Given the description of an element on the screen output the (x, y) to click on. 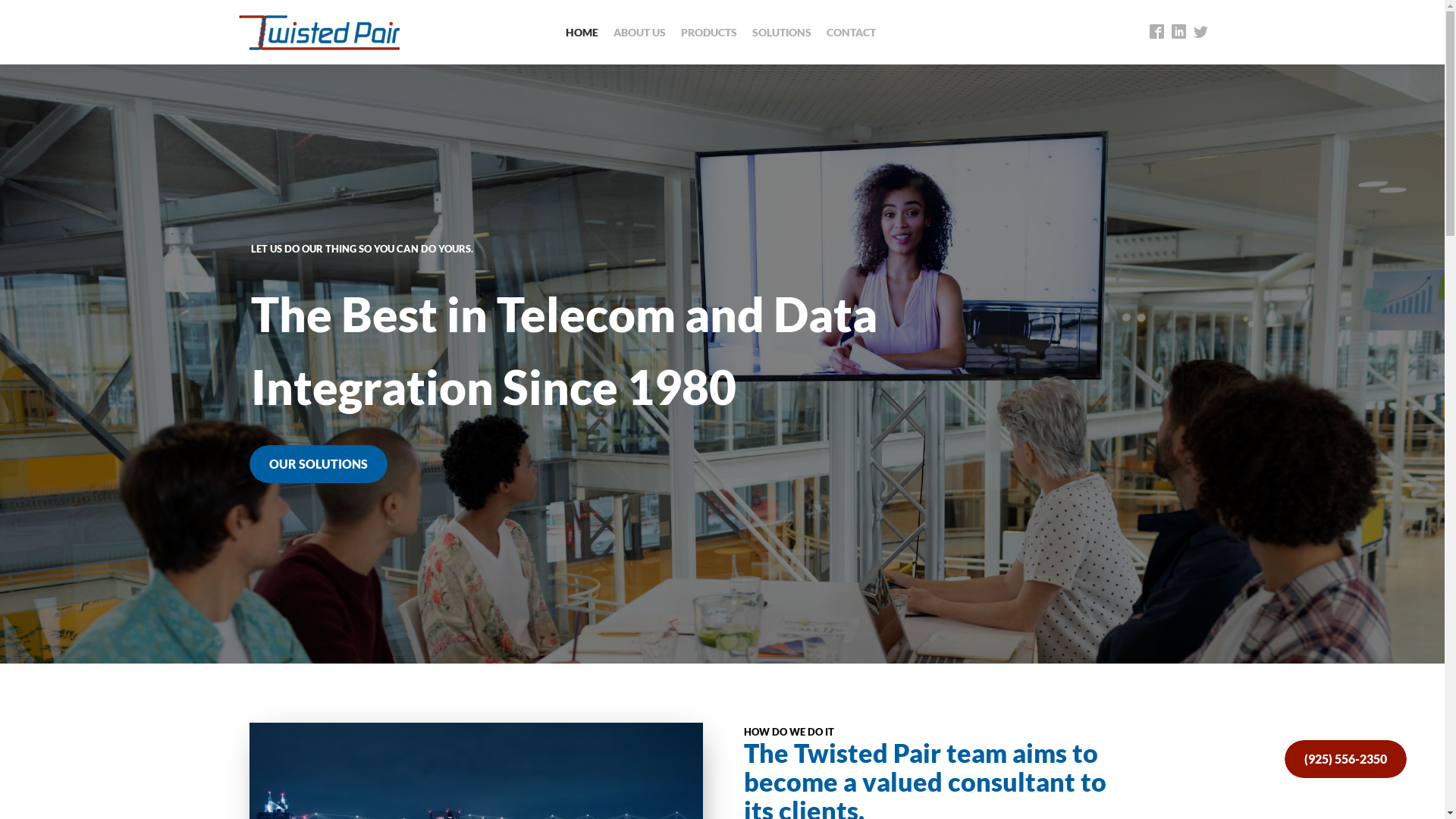
(925) 556-2350 Element type: text (1345, 760)
HOME Element type: text (581, 32)
OUR SOLUTIONS Element type: text (317, 479)
SOLUTIONS Element type: text (781, 32)
PRODUCTS Element type: text (708, 32)
CONTACT Element type: text (851, 32)
ABOUT US Element type: text (639, 32)
